Given the description of an element on the screen output the (x, y) to click on. 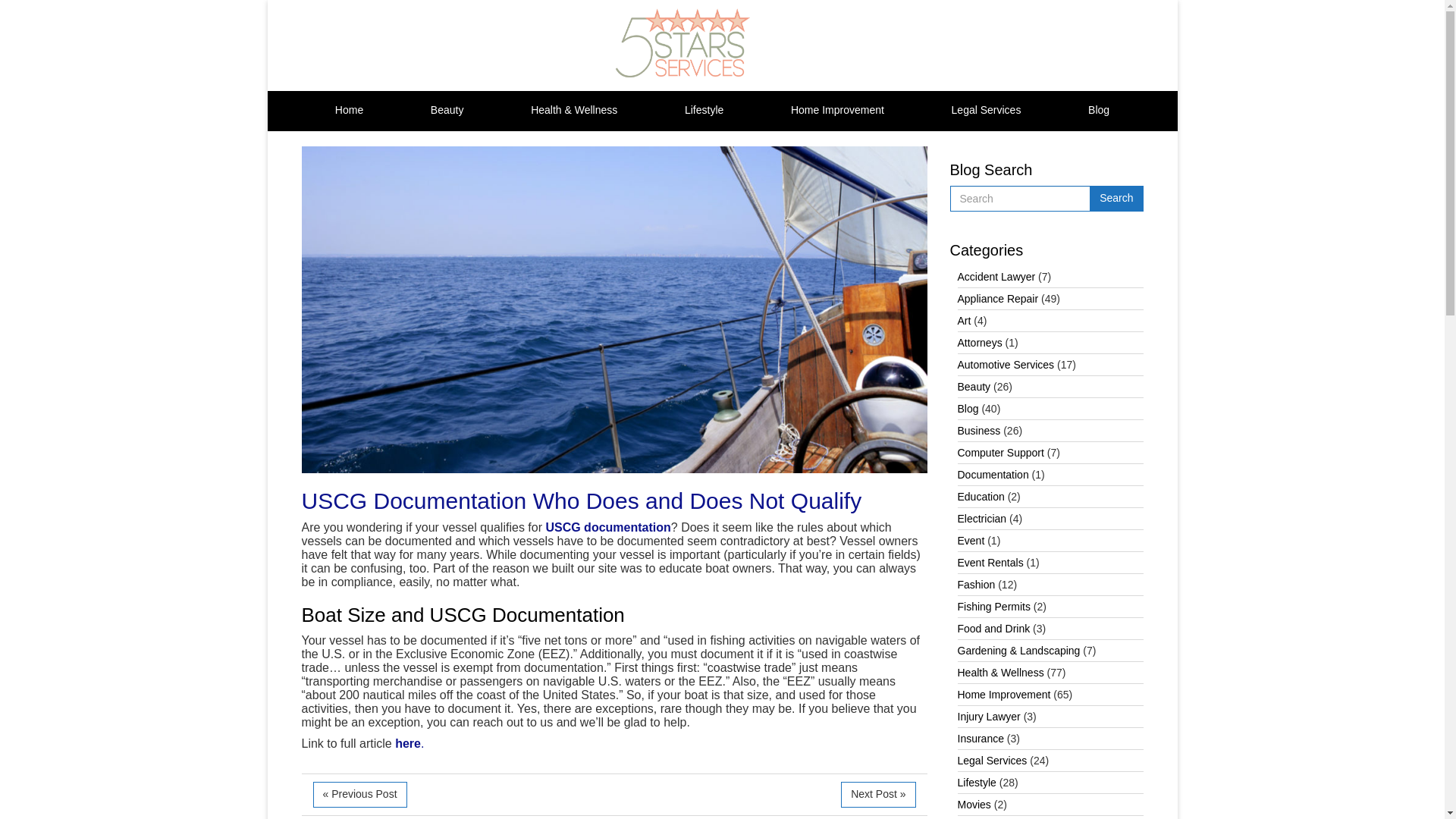
USCG Forms That Involve Liens, Mortgages, and More (878, 794)
Business (978, 430)
Attorneys (978, 342)
Blog (967, 408)
USCG Documentation Who Does and Does Not Qualify (581, 500)
Home (349, 110)
Blog (1098, 110)
USCG Documentation Who Does and Does Not Qualify (581, 500)
Blog (1098, 110)
here.  (409, 743)
